Given the description of an element on the screen output the (x, y) to click on. 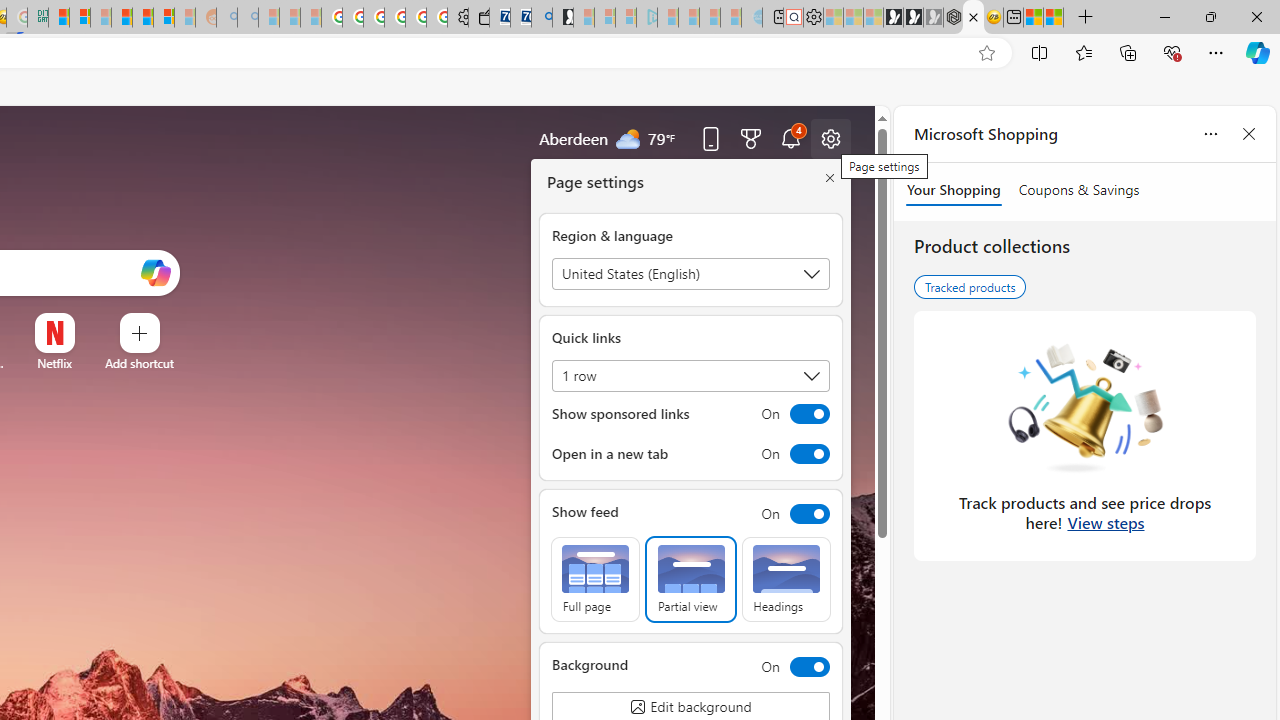
Mostly cloudy (628, 137)
Headings (786, 579)
Add a site (139, 363)
Wildlife - MSN (1033, 17)
Wallet (478, 17)
Page settings (831, 138)
Bing Real Estate - Home sales and rental listings (541, 17)
